Given the description of an element on the screen output the (x, y) to click on. 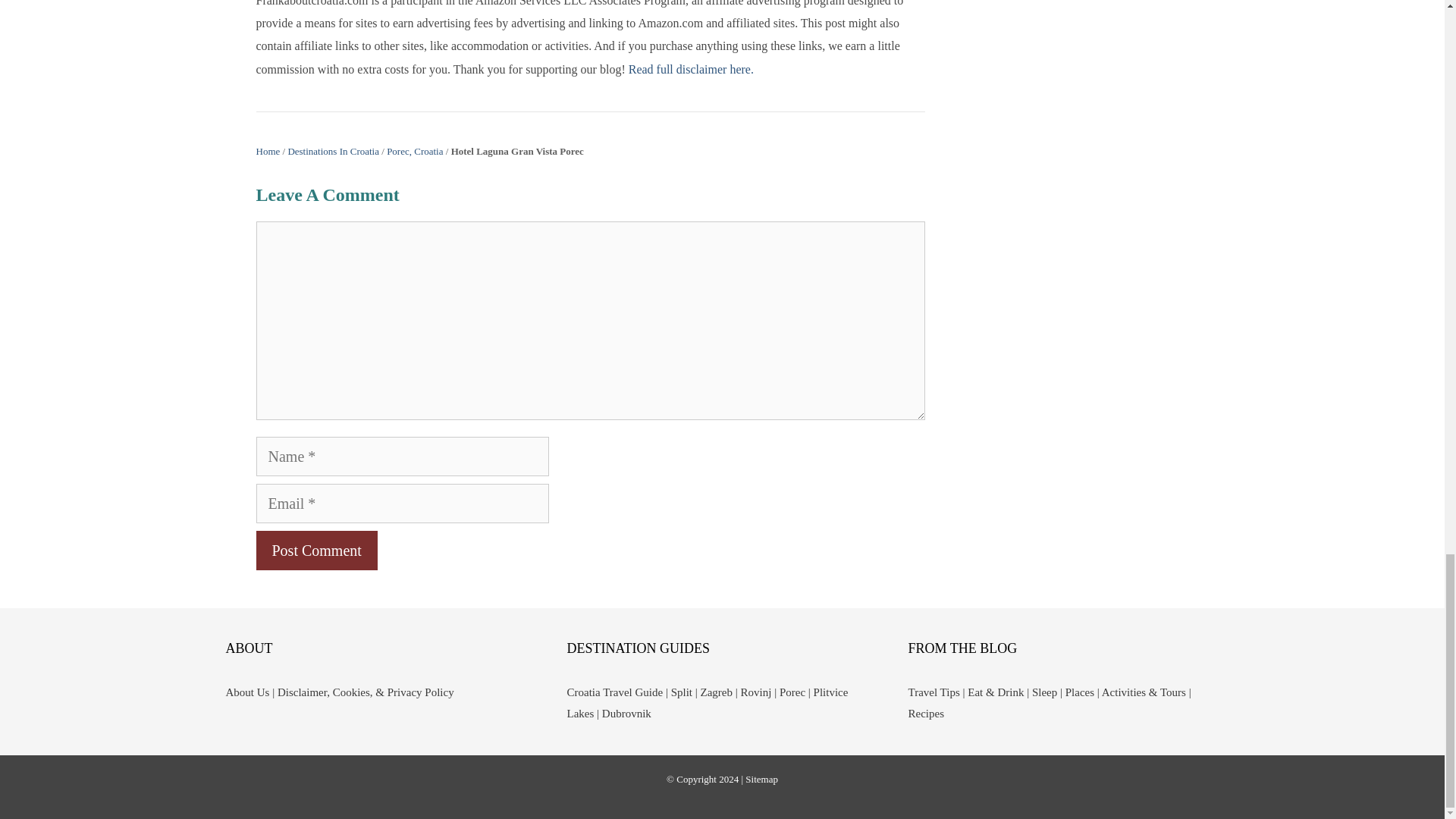
Post Comment (316, 550)
